Given the description of an element on the screen output the (x, y) to click on. 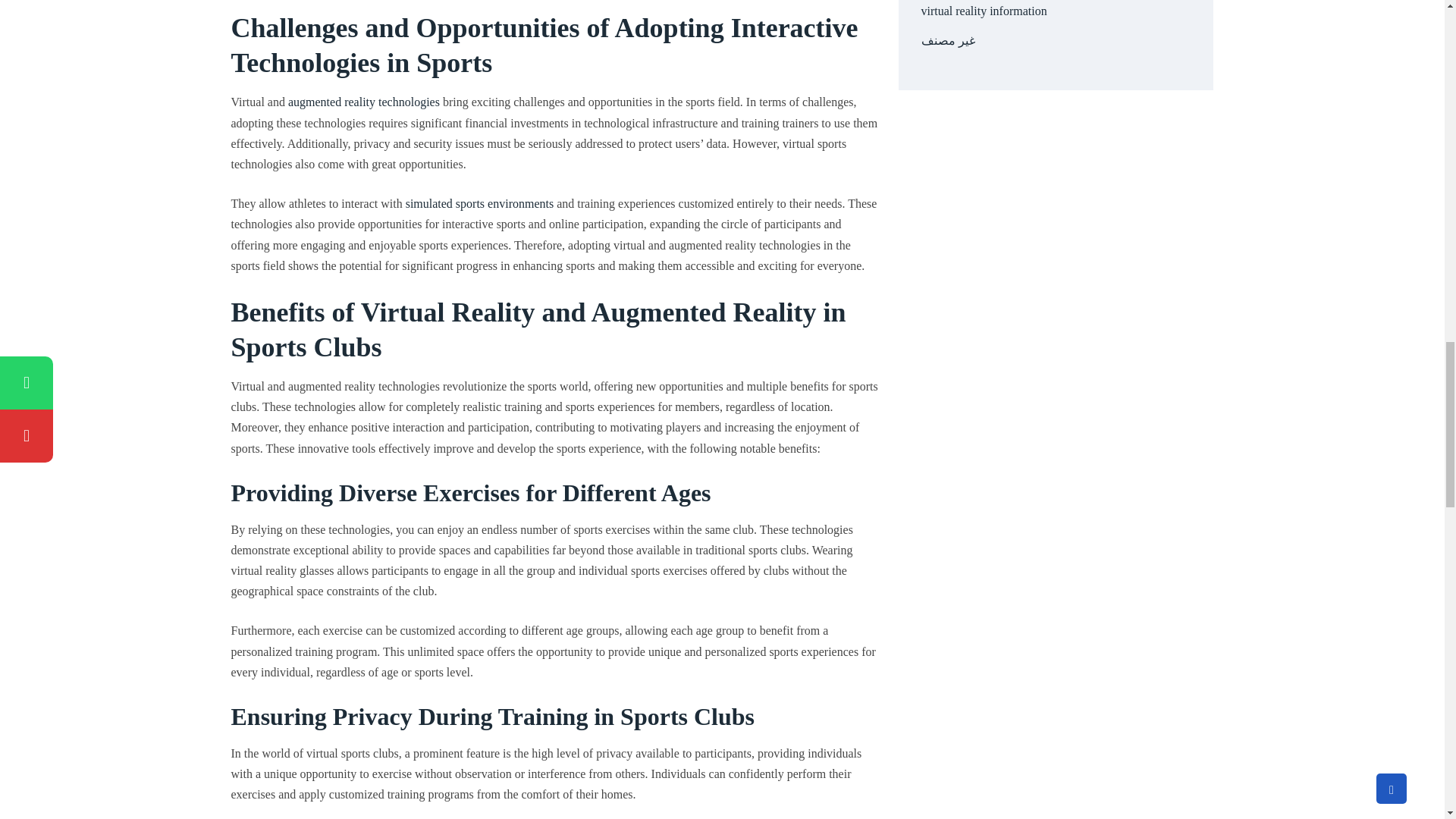
simulated sports environments (480, 203)
augmented reality technologies (363, 101)
